Given the description of an element on the screen output the (x, y) to click on. 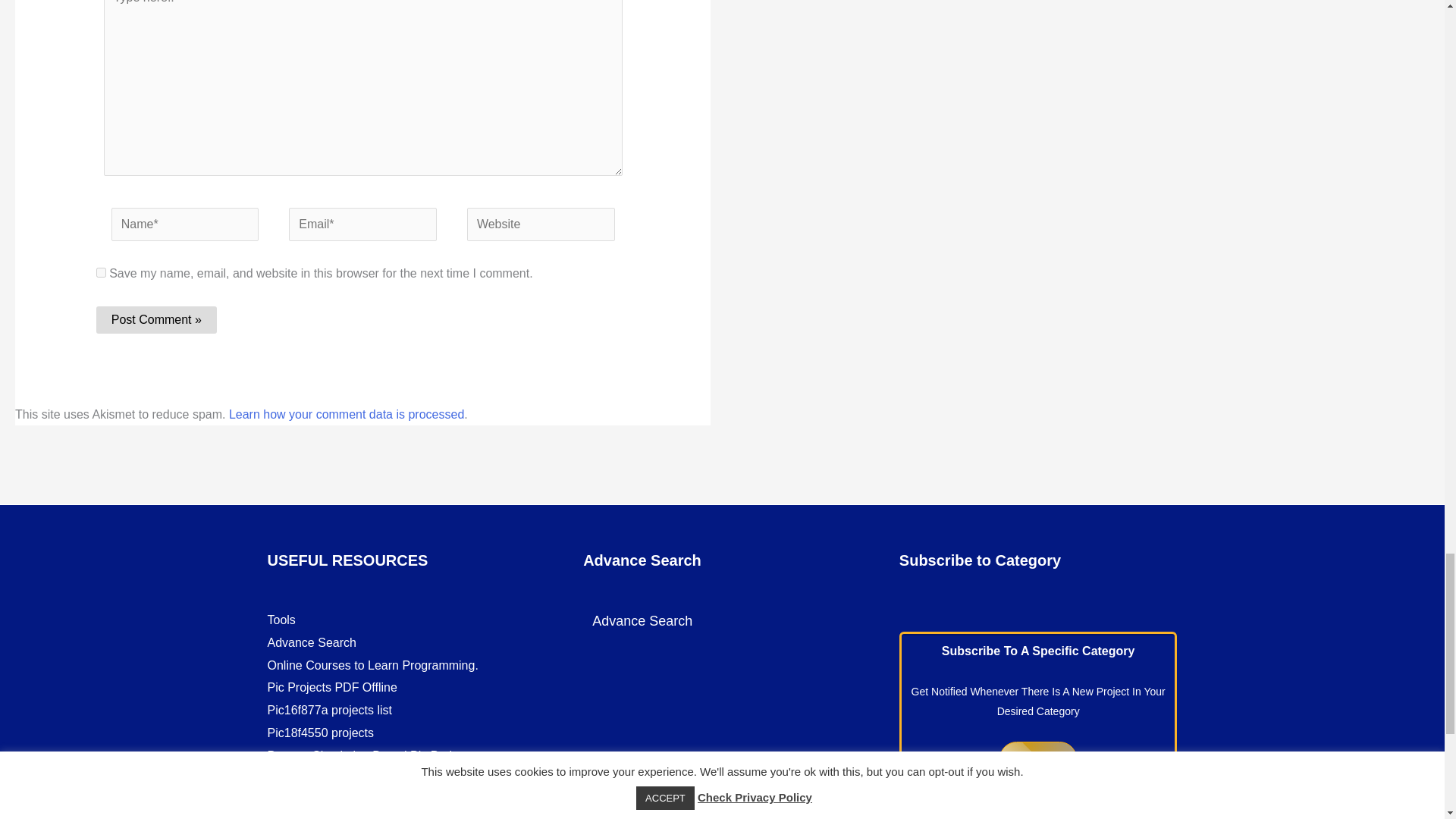
yes (101, 272)
